Given the description of an element on the screen output the (x, y) to click on. 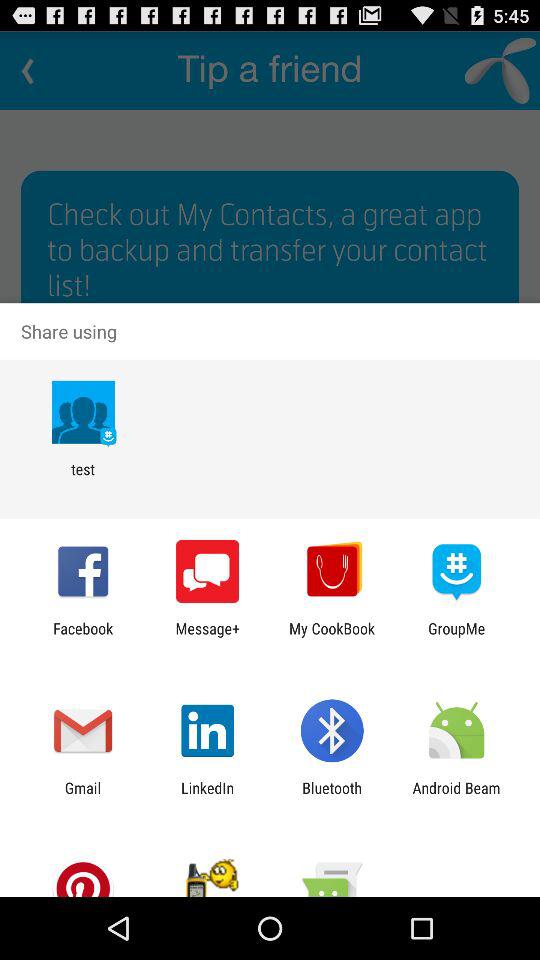
click the icon to the left of bluetooth icon (207, 796)
